Given the description of an element on the screen output the (x, y) to click on. 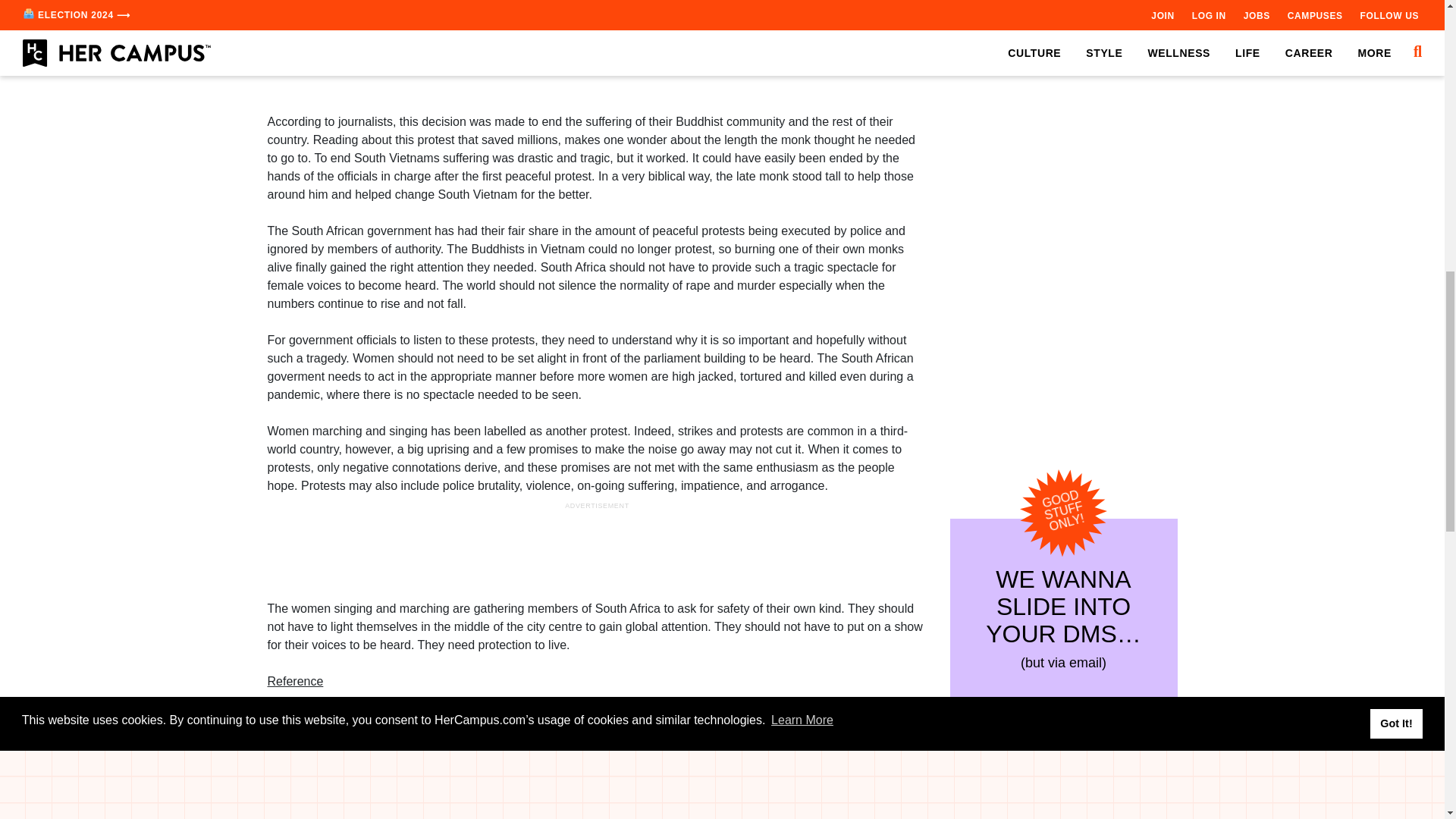
3rd party ad content (1062, 105)
3rd party ad content (597, 60)
3rd party ad content (597, 547)
